Given the description of an element on the screen output the (x, y) to click on. 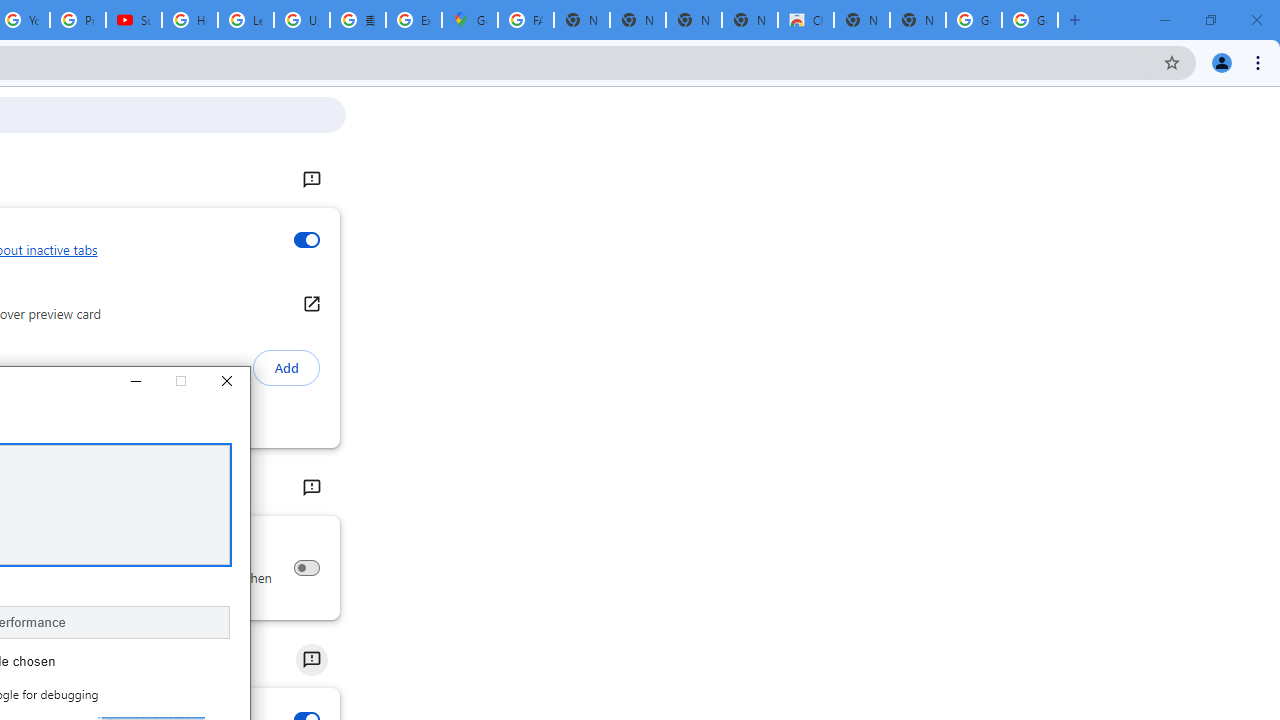
Explore new street-level details - Google Maps Help (413, 20)
Google Images (973, 20)
Memory (310, 488)
Chrome Web Store (806, 20)
Inactive tabs appearance (306, 240)
Google Maps (469, 20)
Google Images (1030, 20)
